Given the description of an element on the screen output the (x, y) to click on. 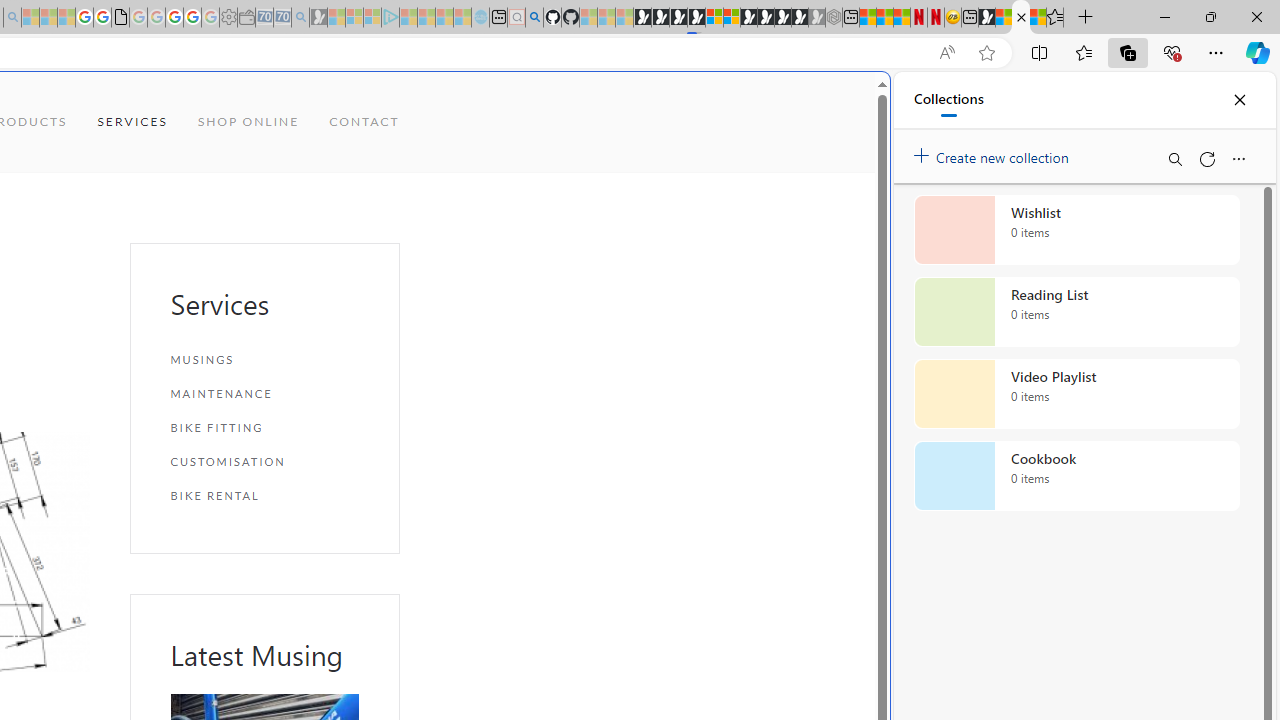
BIKE FITTING (264, 426)
MUSINGS (264, 360)
